Given the description of an element on the screen output the (x, y) to click on. 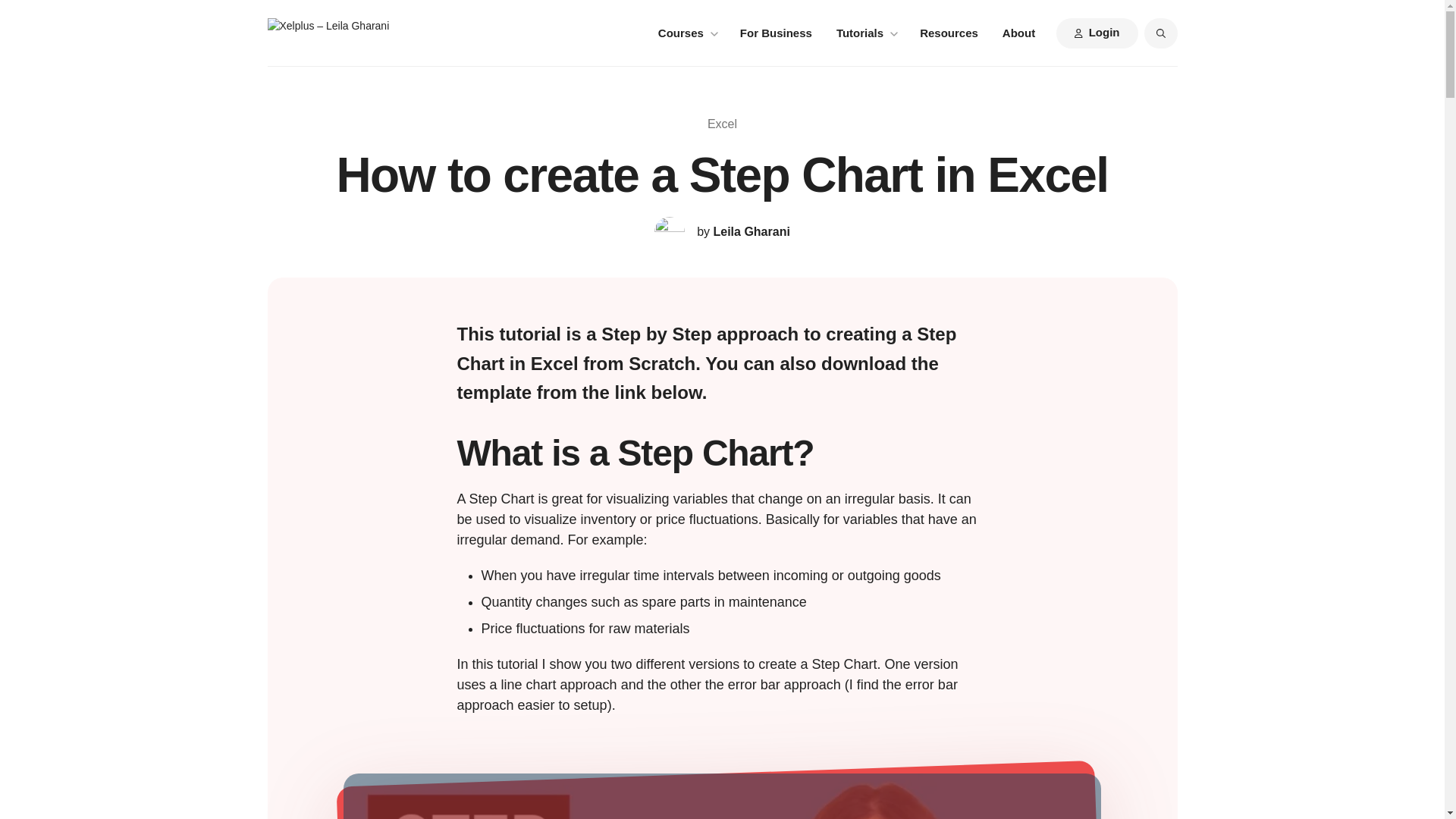
For Business (775, 33)
Courses (687, 33)
Tutorials (865, 33)
